Given the description of an element on the screen output the (x, y) to click on. 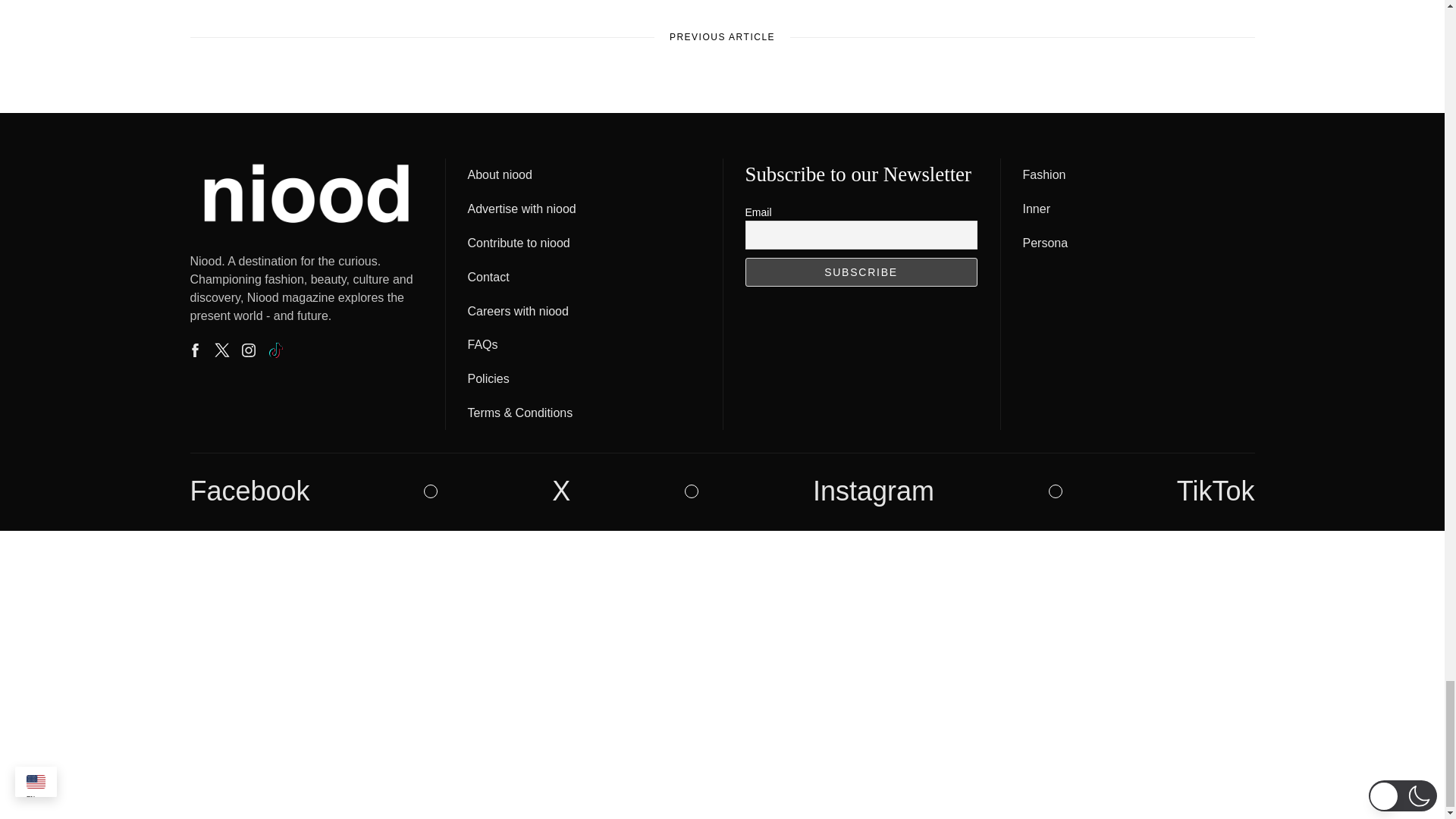
Subscribe (860, 271)
